Given the description of an element on the screen output the (x, y) to click on. 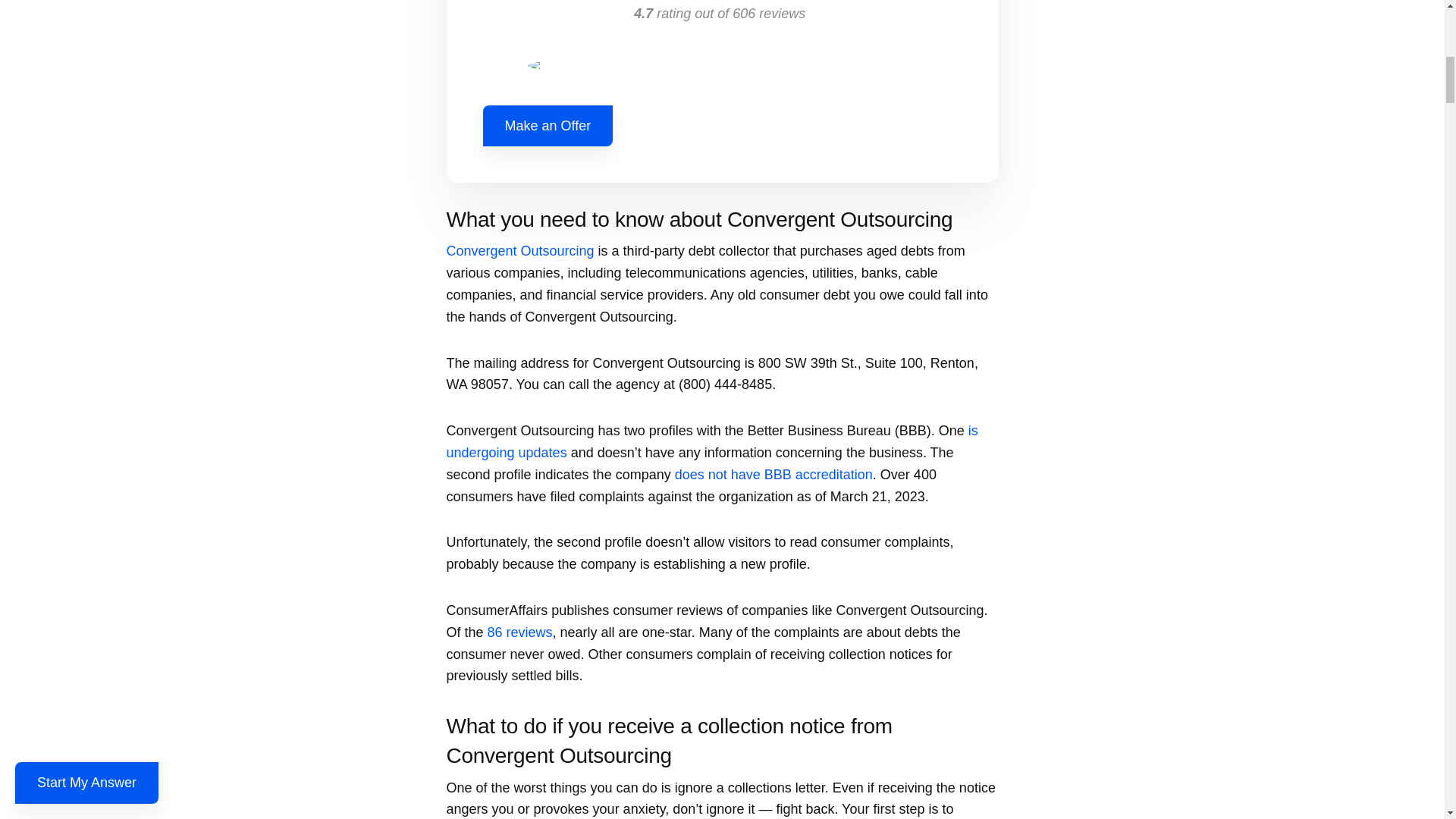
Make an Offer (546, 126)
is undergoing updates (710, 441)
Convergent Outsourcing (519, 250)
86 reviews (520, 631)
does not have BBB accreditation (773, 474)
EmbedReviews widget (720, 40)
